Given the description of an element on the screen output the (x, y) to click on. 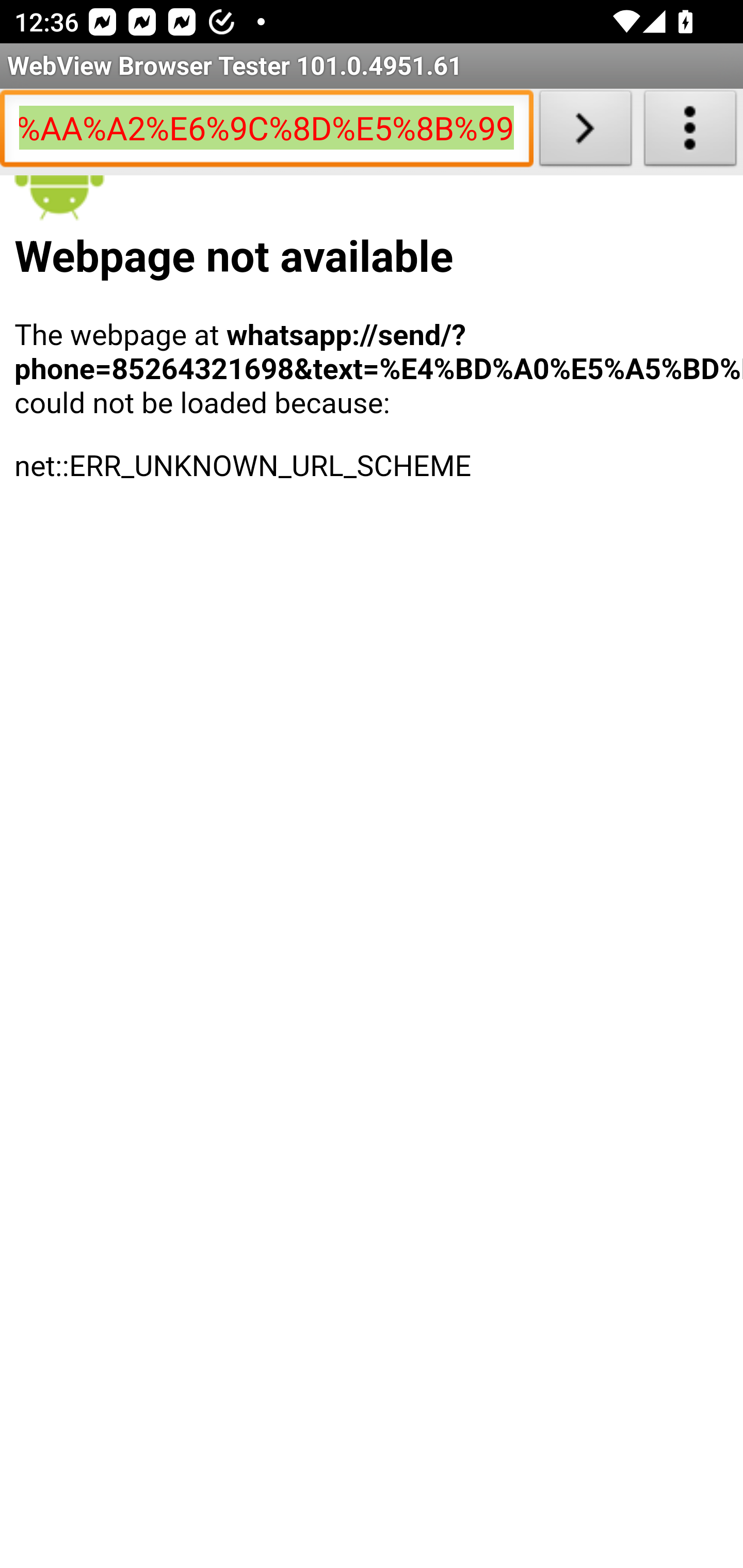
Load URL (585, 132)
About WebView (690, 132)
